Given the description of an element on the screen output the (x, y) to click on. 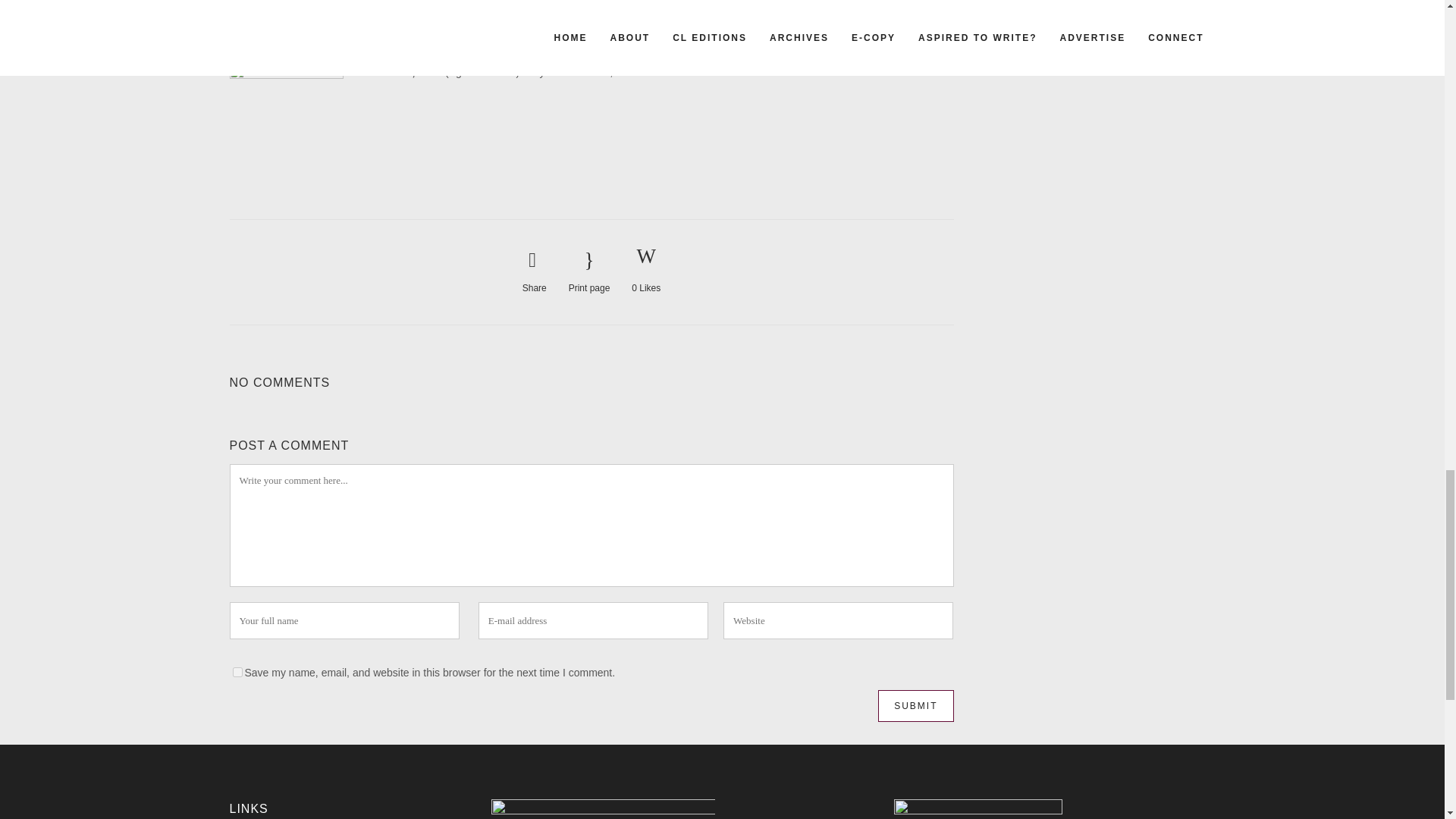
yes (236, 672)
Submit (915, 705)
